Given the description of an element on the screen output the (x, y) to click on. 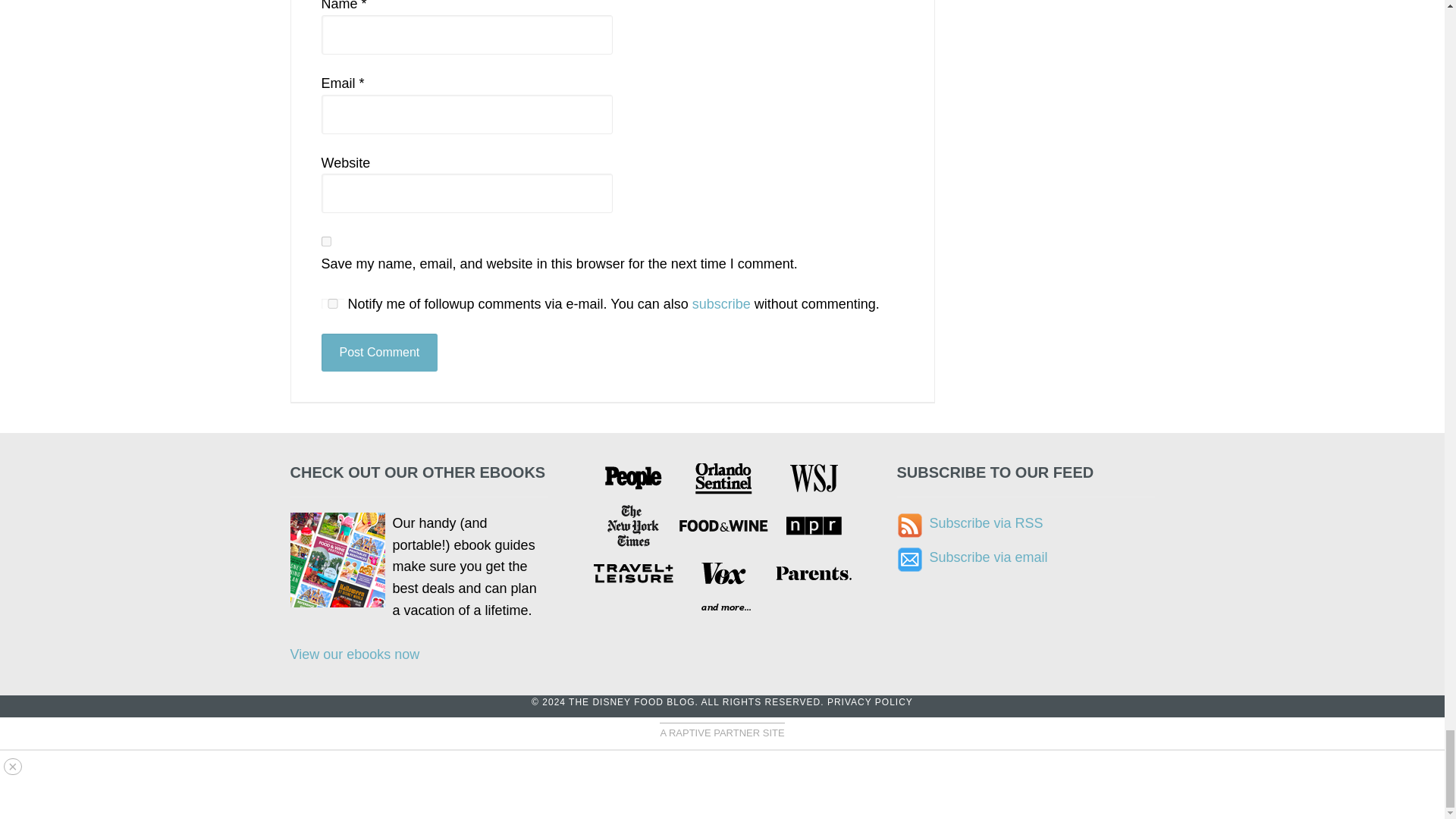
yes (326, 241)
Post Comment (379, 352)
yes (332, 303)
